Given the description of an element on the screen output the (x, y) to click on. 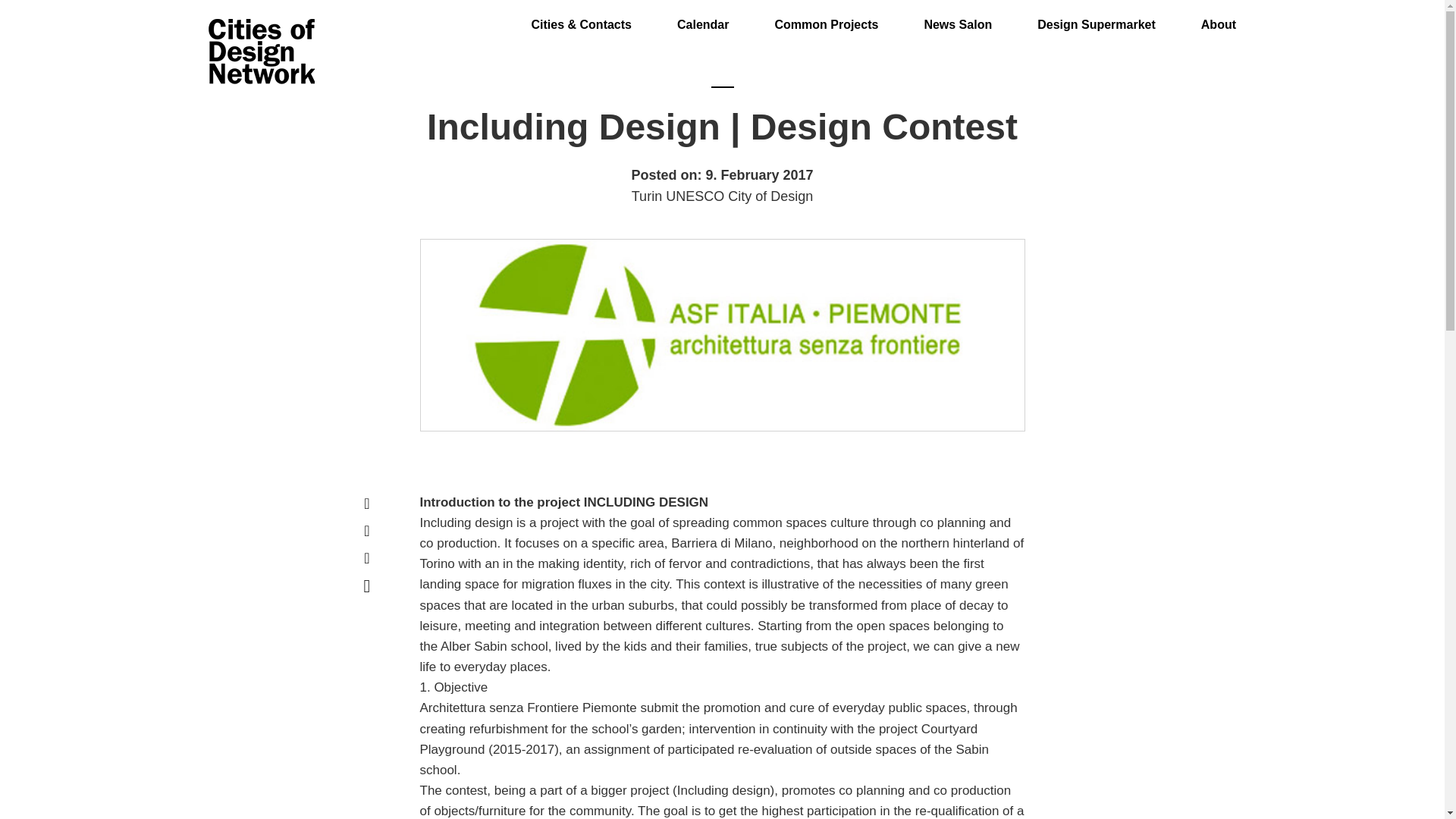
Cities of Design Network (261, 52)
Common Projects (825, 15)
Calendar (703, 15)
News Salon (957, 15)
Design Supermarket (1096, 15)
About (1218, 15)
